Given the description of an element on the screen output the (x, y) to click on. 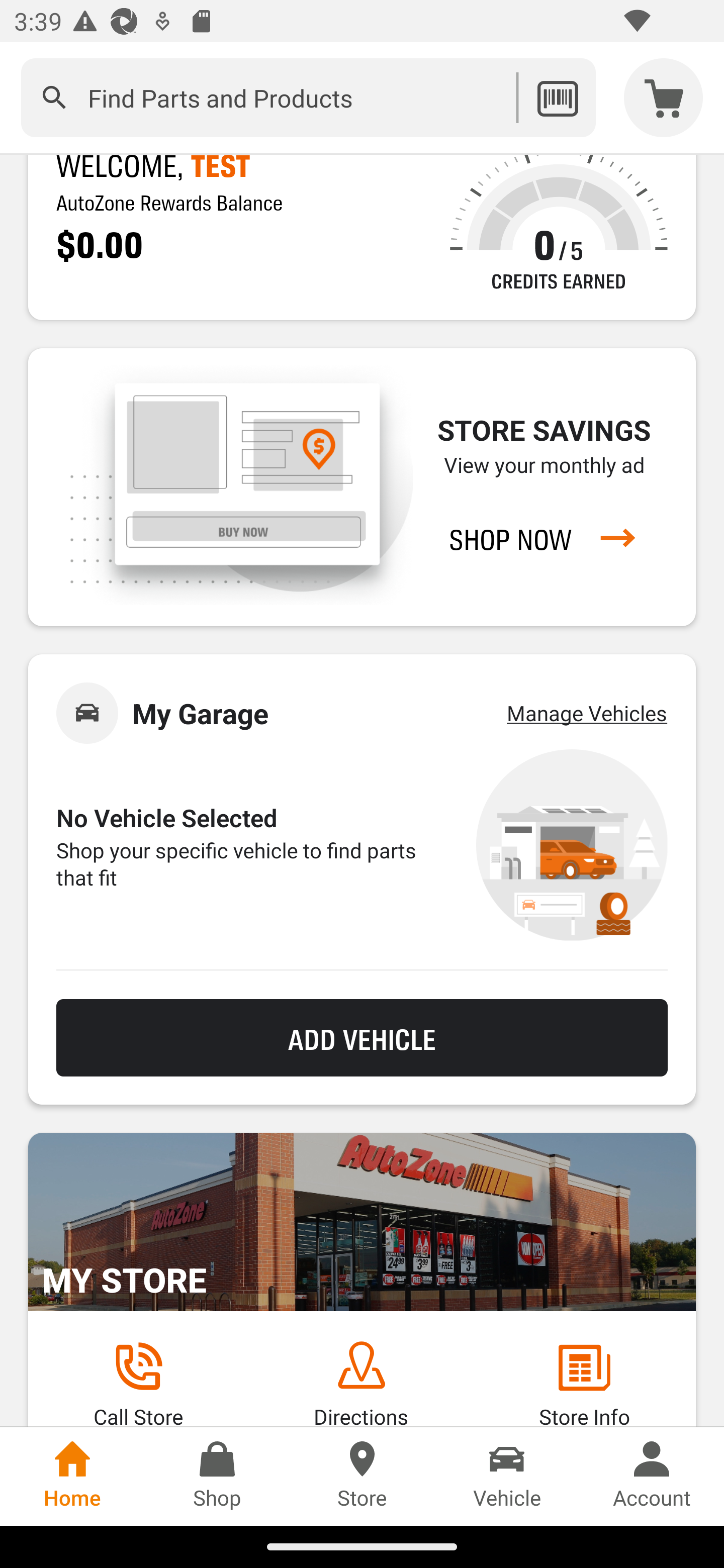
 scan-product-to-search  (557, 97)
 (54, 97)
Cart, no items  (663, 97)
Manage Vehicles (586, 713)
ADD VEHICLE (361, 1037)
Call Store  Call Store (138, 1382)
Directions  Directions (361, 1382)
Store Info  Store Info (584, 1382)
Home (72, 1475)
Shop (216, 1475)
Store (361, 1475)
Vehicle (506, 1475)
Account (651, 1475)
